Given the description of an element on the screen output the (x, y) to click on. 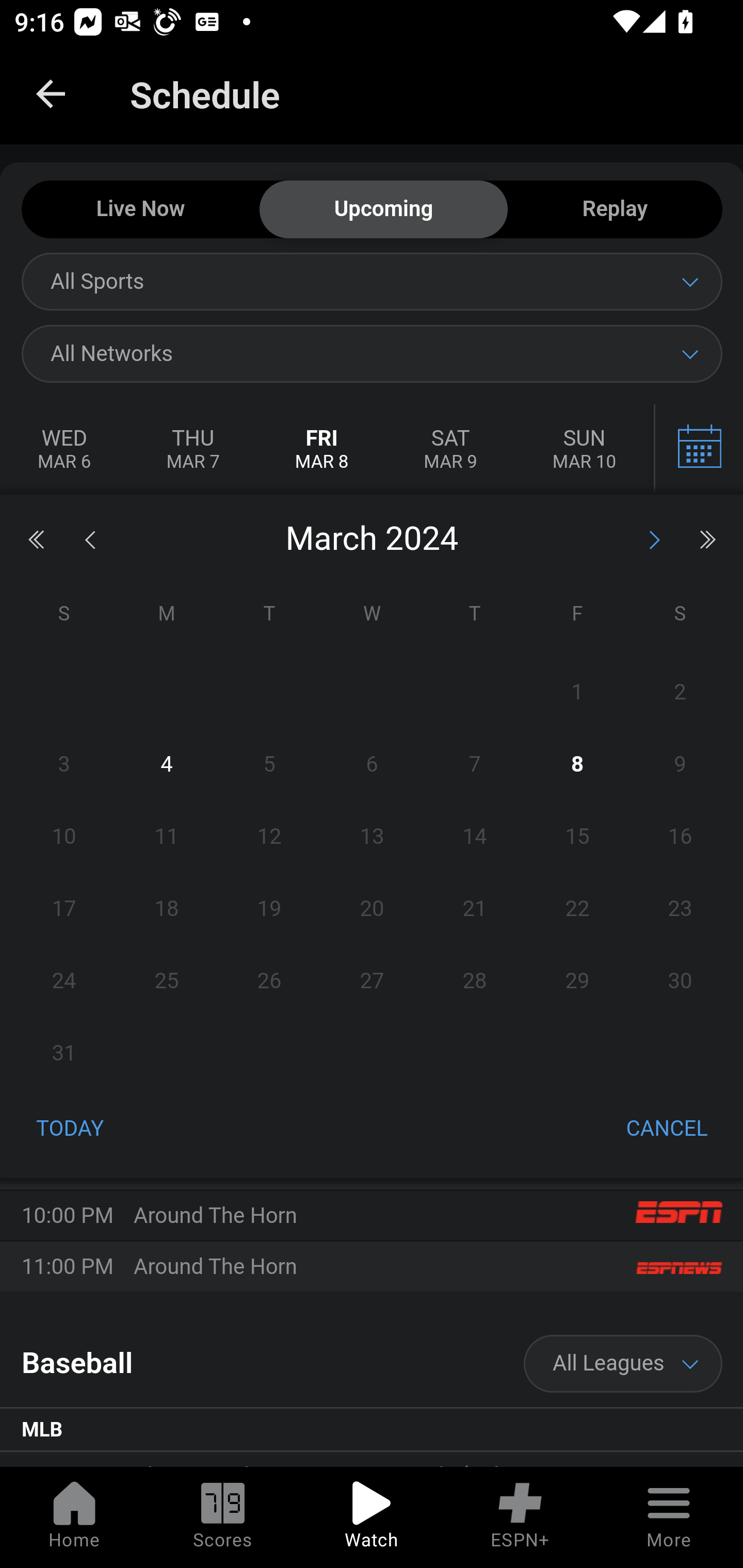
back.button (50, 93)
Live Now (140, 209)
Upcoming (382, 209)
Replay (614, 209)
All Sports (371, 281)
All Networks (371, 353)
WED MAR 6 (65, 449)
THU MAR 7 (192, 449)
FRI MAR 8 (321, 449)
SAT MAR 9 (450, 449)
SUN MAR 10 (583, 449)
MON MAR 11 (697, 449)
4 (166, 763)
5 (269, 763)
6 (372, 763)
7 (473, 763)
8 (576, 763)
9 (679, 763)
10 (64, 836)
11 (166, 836)
12 (269, 836)
13 (372, 836)
14 (473, 836)
15 (576, 836)
16 (679, 836)
17 (64, 908)
18 (166, 908)
19 (269, 908)
20 (372, 908)
21 (473, 908)
22 (576, 908)
23 (679, 908)
24 (64, 980)
25 (166, 980)
26 (269, 980)
27 (372, 980)
28 (473, 980)
29 (576, 980)
30 (679, 980)
31 (64, 1052)
TODAY (70, 1129)
CANCEL (666, 1129)
All Leagues (622, 1363)
Home (74, 1517)
Scores (222, 1517)
ESPN+ (519, 1517)
More (668, 1517)
